Given the description of an element on the screen output the (x, y) to click on. 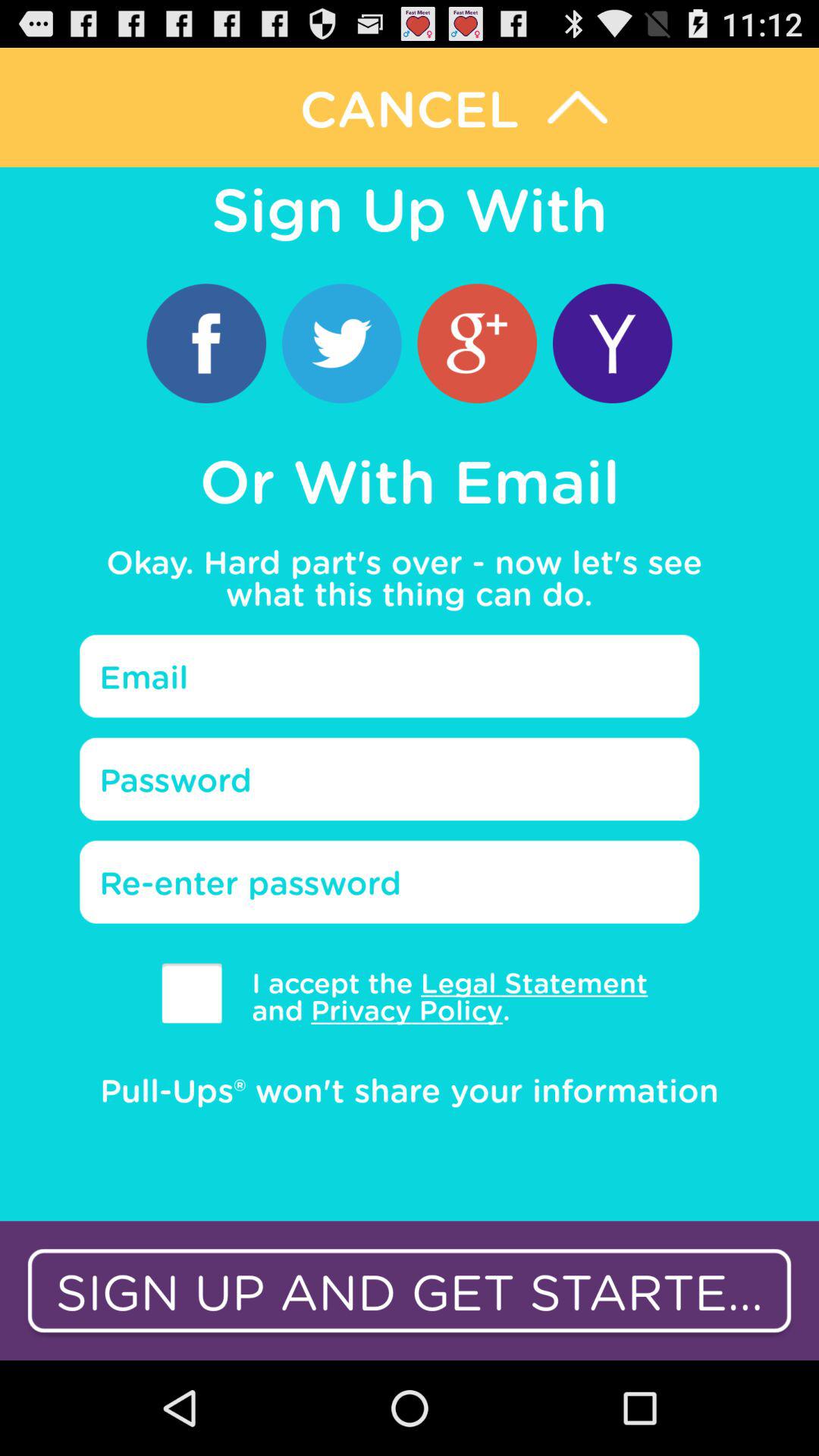
enter password (389, 778)
